Given the description of an element on the screen output the (x, y) to click on. 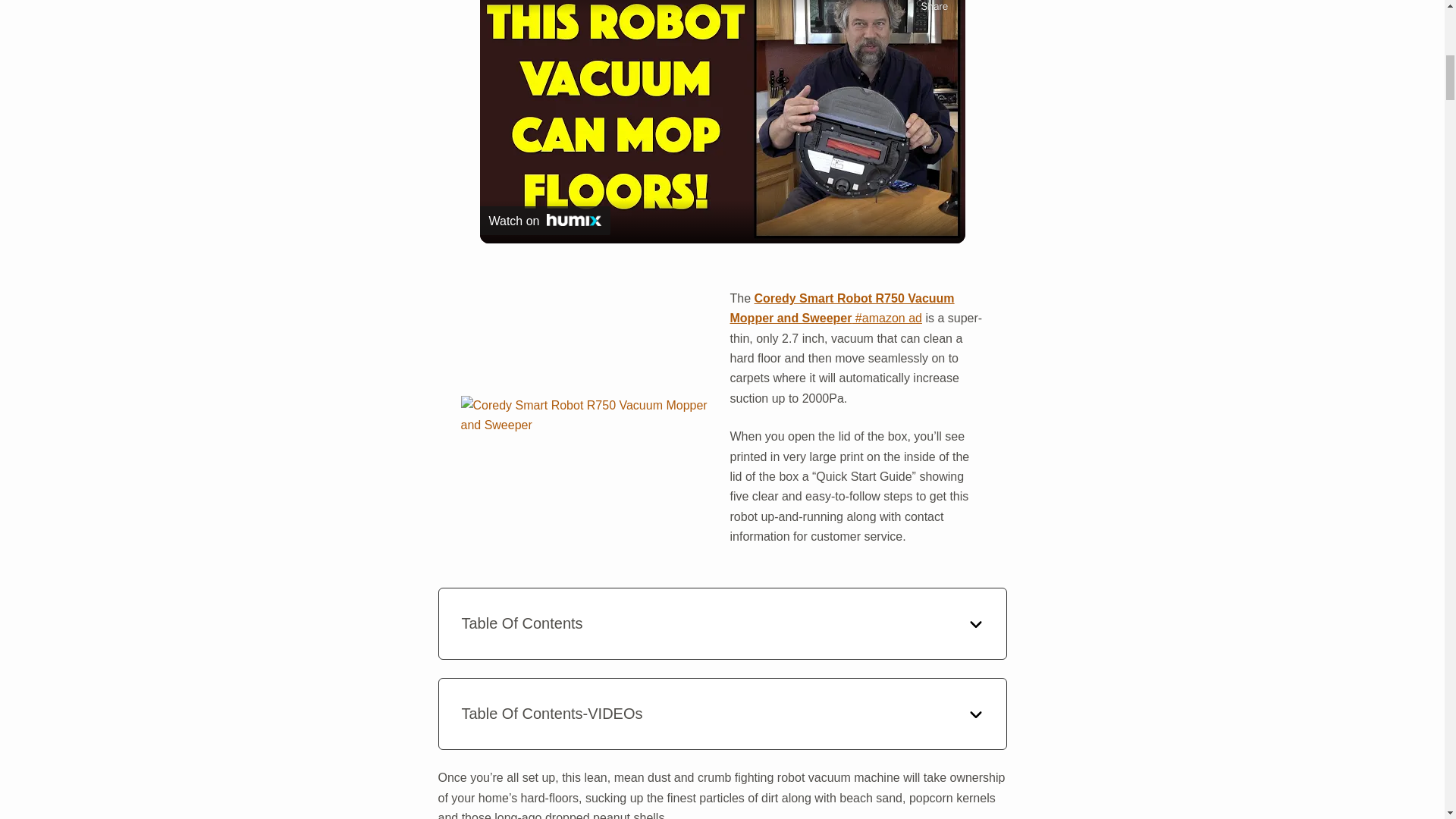
share (933, 7)
